Given the description of an element on the screen output the (x, y) to click on. 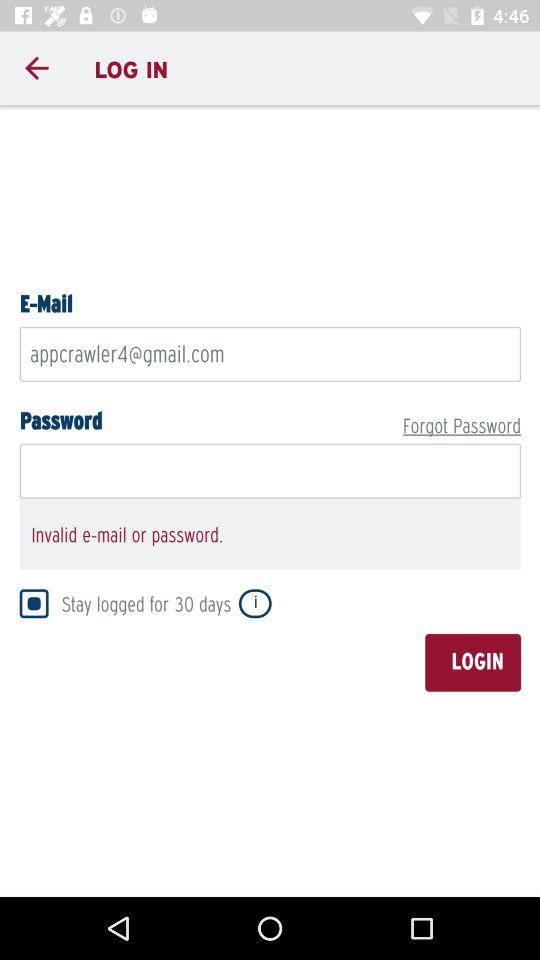
whole login page (270, 498)
